Given the description of an element on the screen output the (x, y) to click on. 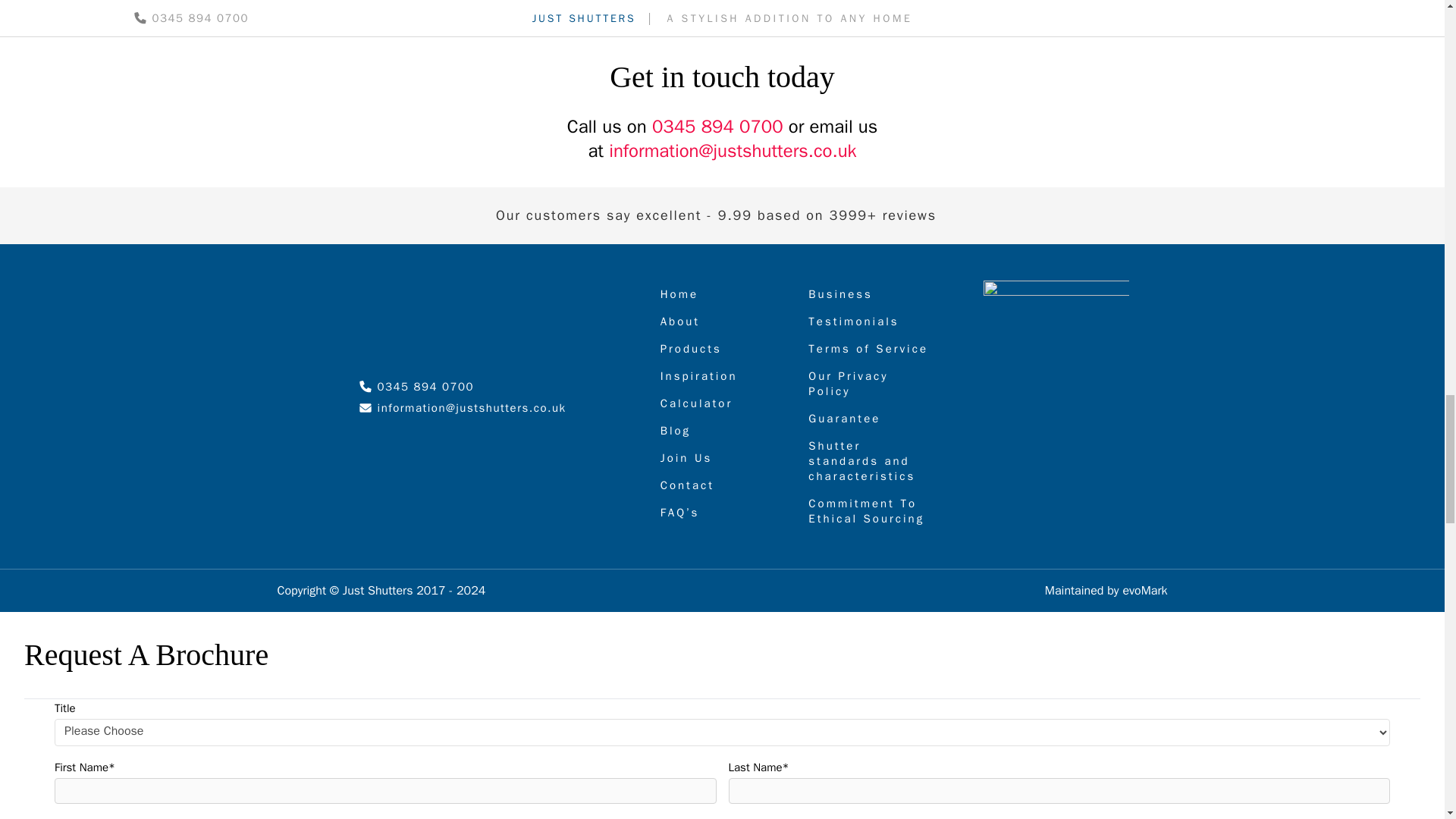
Inspiration (721, 375)
Products (721, 348)
About (721, 320)
0345 894 0700 (416, 386)
Email Us (462, 407)
Calculator (721, 402)
Blog (721, 430)
Join Us (721, 457)
Home (721, 293)
0345 894 0700 (717, 126)
